Given the description of an element on the screen output the (x, y) to click on. 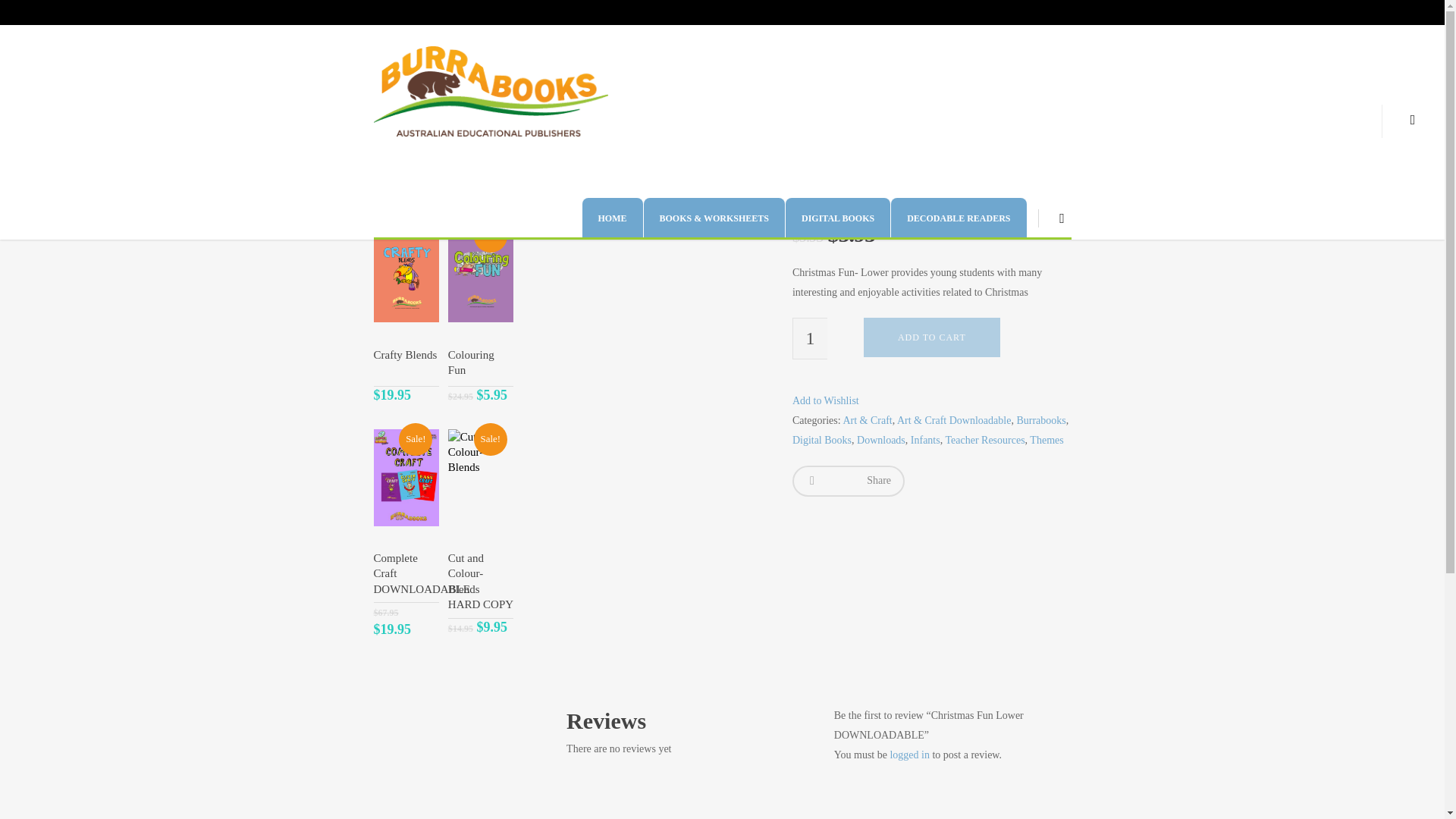
Home (383, 108)
DIGITAL BOOKS (837, 217)
DECODABLE READERS (958, 217)
HOME (611, 217)
